Given the description of an element on the screen output the (x, y) to click on. 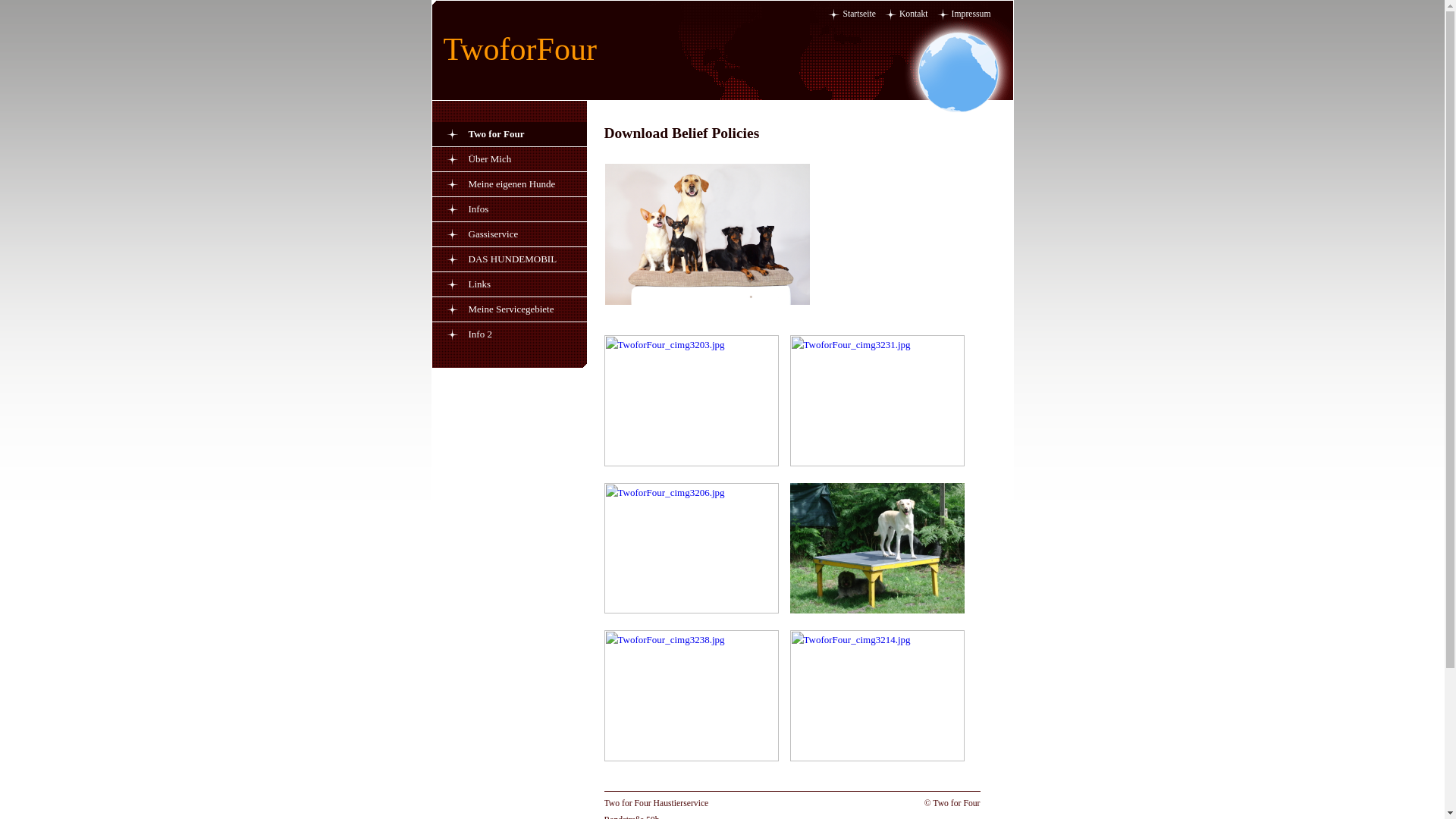
Startseite (859, 13)
Gassiservice (527, 233)
Kontakt (913, 13)
Meine Servicegebiete (527, 308)
Meine eigenen Hunde (527, 183)
Links (527, 283)
Two for Four (527, 133)
Impressum (971, 13)
Info 2 (527, 333)
DAS HUNDEMOBIL (527, 258)
Infos (527, 208)
